Given the description of an element on the screen output the (x, y) to click on. 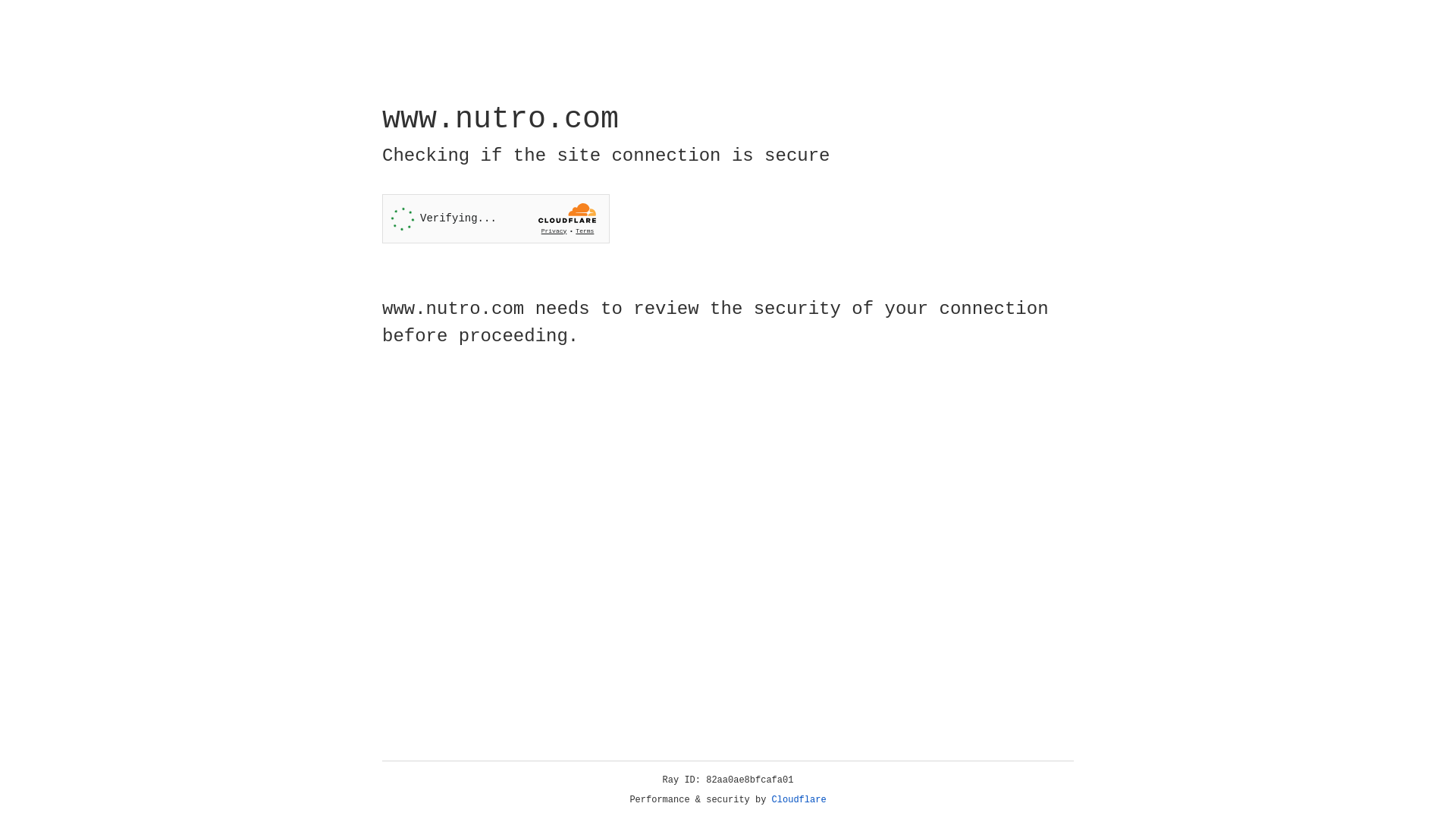
Widget containing a Cloudflare security challenge Element type: hover (495, 218)
Cloudflare Element type: text (798, 799)
